Given the description of an element on the screen output the (x, y) to click on. 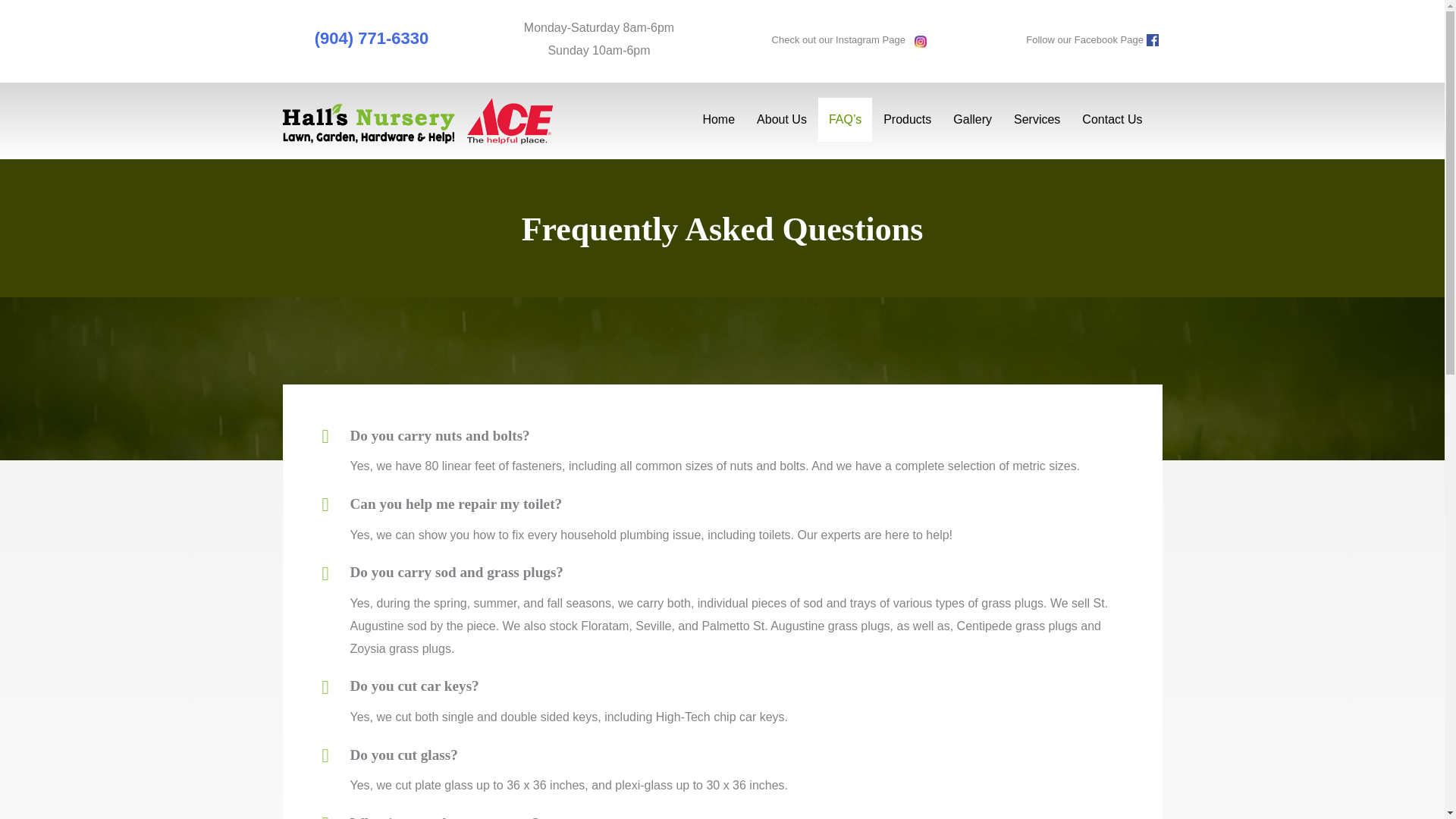
Home (718, 119)
About Us (780, 119)
Services (1036, 119)
Products (907, 119)
Contact Us (1112, 119)
halslogo (416, 120)
Gallery (972, 119)
